Given the description of an element on the screen output the (x, y) to click on. 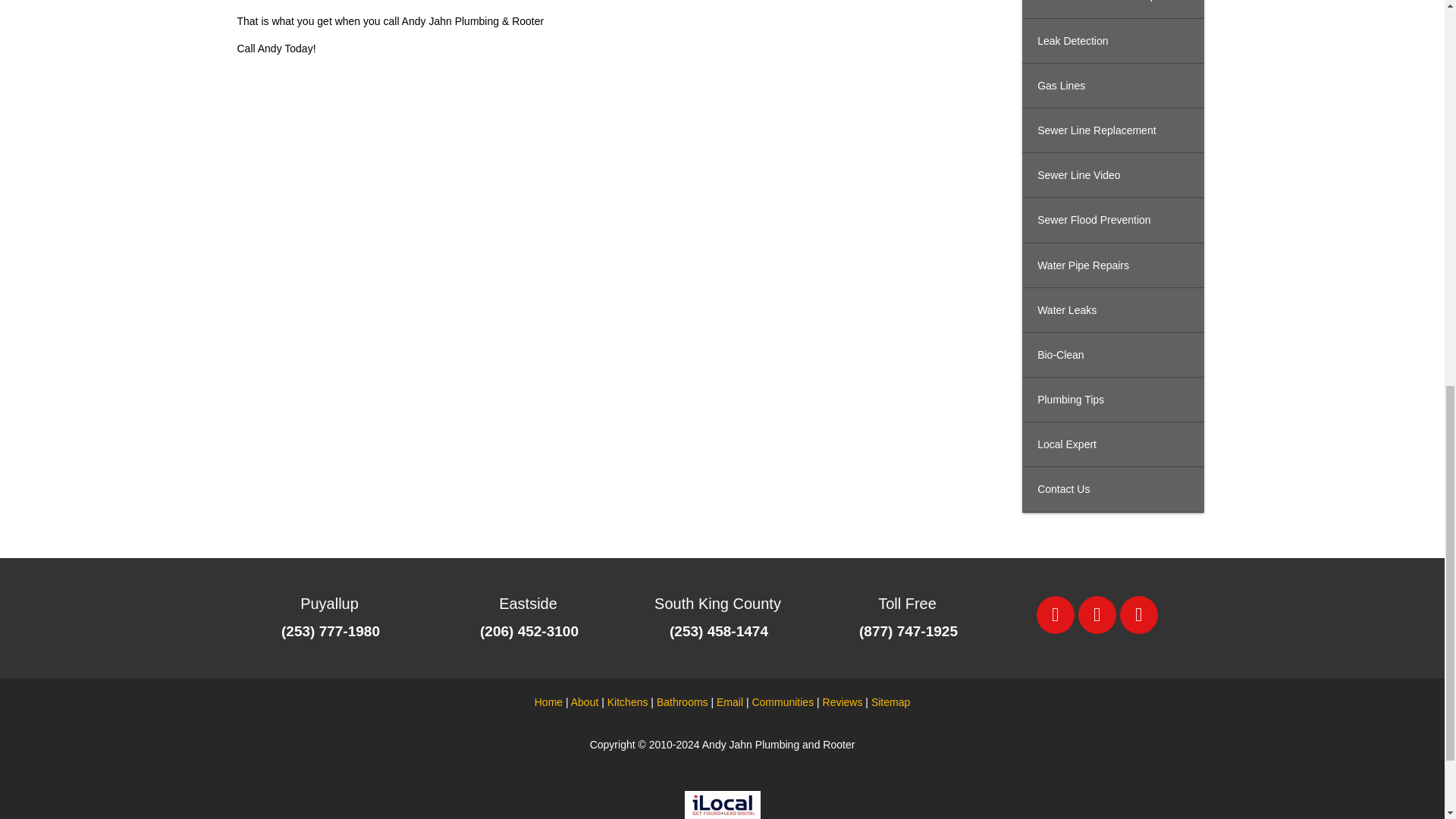
Local Expert (1113, 444)
Sewer Line Replacement (1113, 130)
Contact Us (1113, 488)
Water Leaks (1113, 310)
Sewer Line Video (1113, 175)
Gas Lines (1113, 85)
Sewer Flood Prevention (1113, 220)
Bio-Clean (1113, 354)
Plumbing Tips (1113, 399)
Leak Detection (1113, 40)
Water Pipe Repairs (1113, 265)
